Given the description of an element on the screen output the (x, y) to click on. 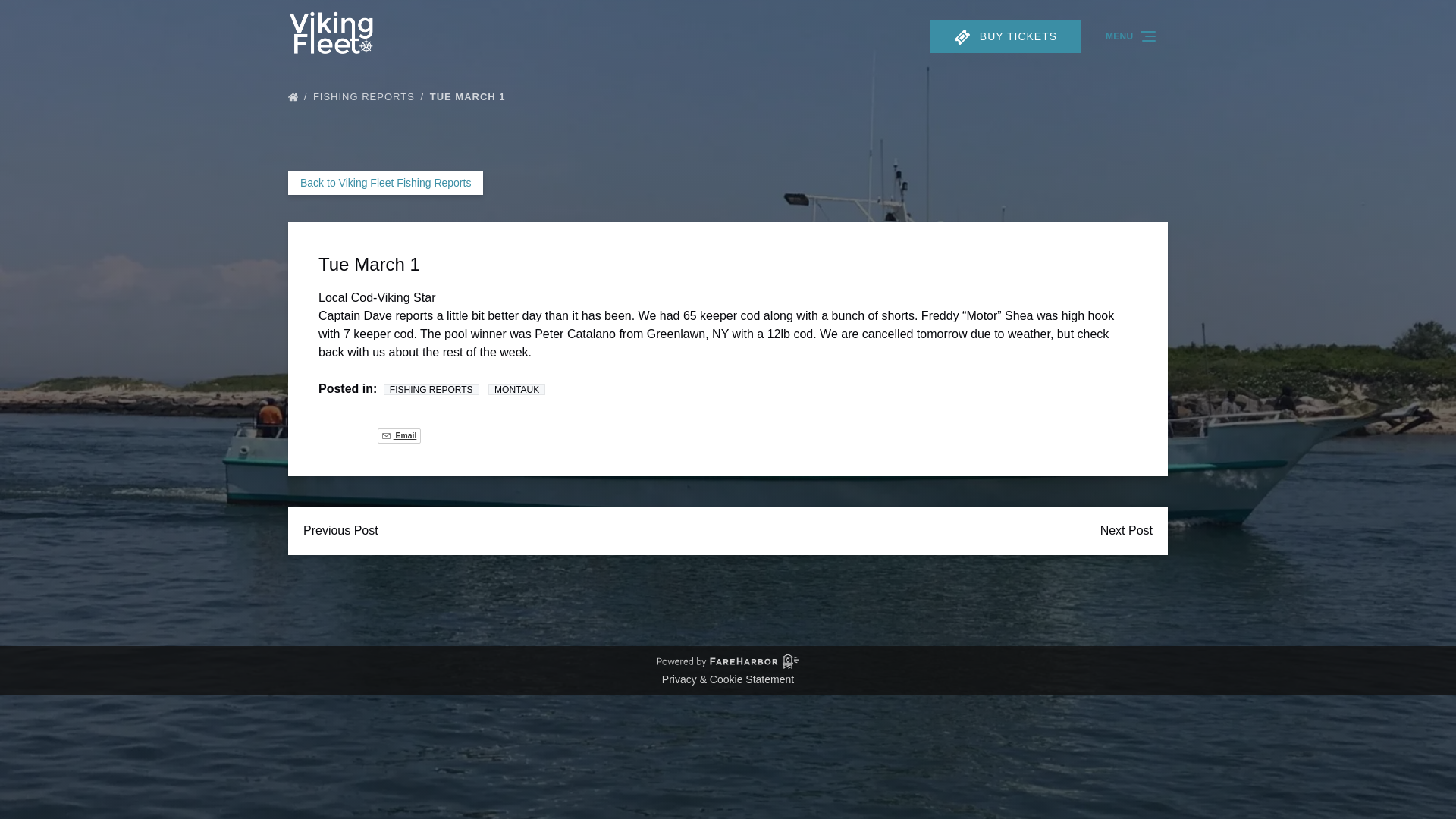
TICKET BUY TICKETS (1005, 36)
Skip to primary navigation (77, 16)
Previous Post (340, 530)
Back to Viking Fleet Fishing Reports (385, 182)
MENU (1131, 36)
FISHING REPORTS (431, 389)
Email (399, 435)
MONTAUK (515, 389)
Skip to footer (42, 16)
TUE MARCH 1 (471, 96)
Skip to content (47, 16)
Next Post (1125, 530)
TICKET (962, 37)
FISHING REPORTS (369, 96)
